Given the description of an element on the screen output the (x, y) to click on. 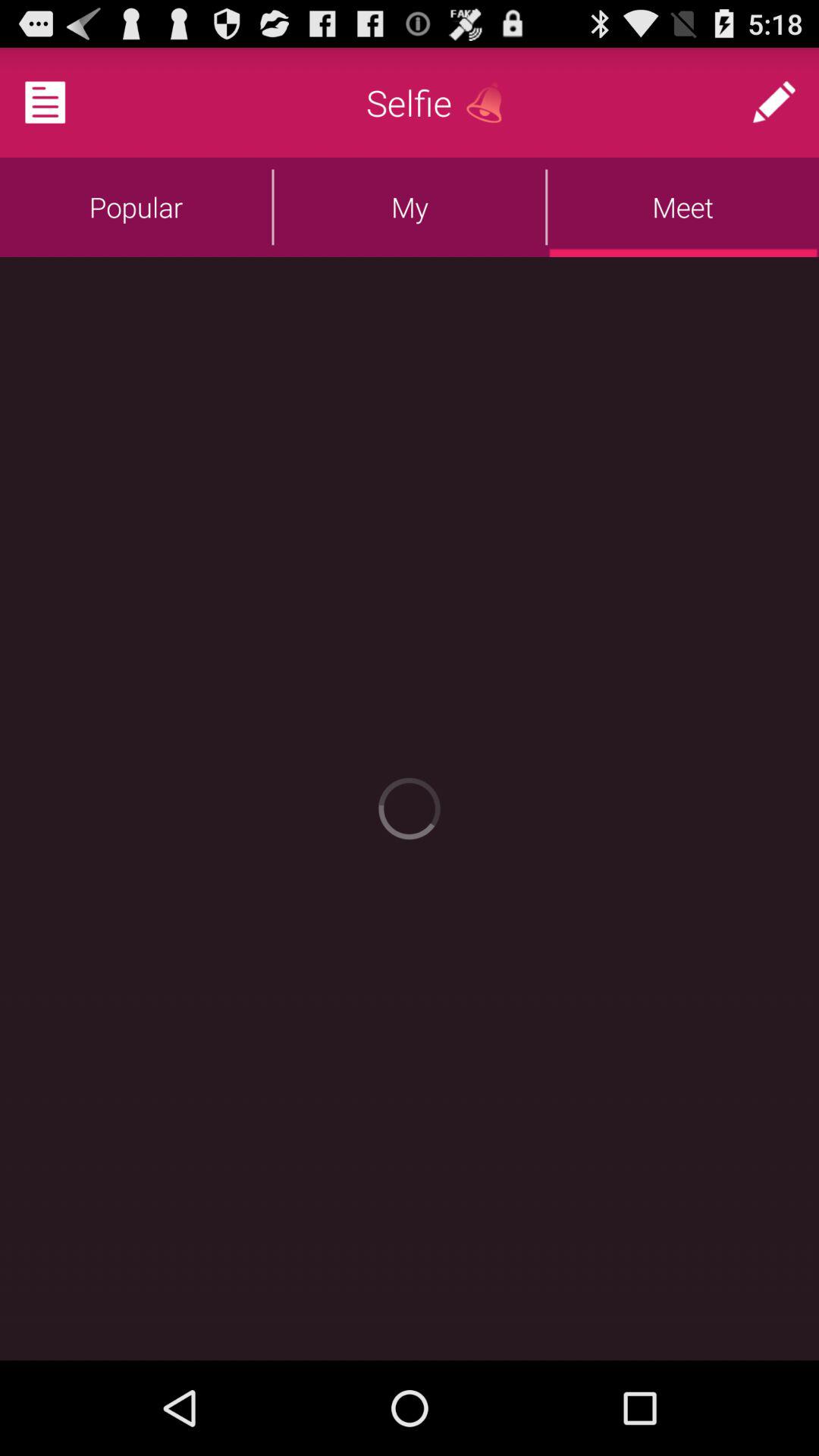
select icon next to the selfie icon (489, 102)
